Given the description of an element on the screen output the (x, y) to click on. 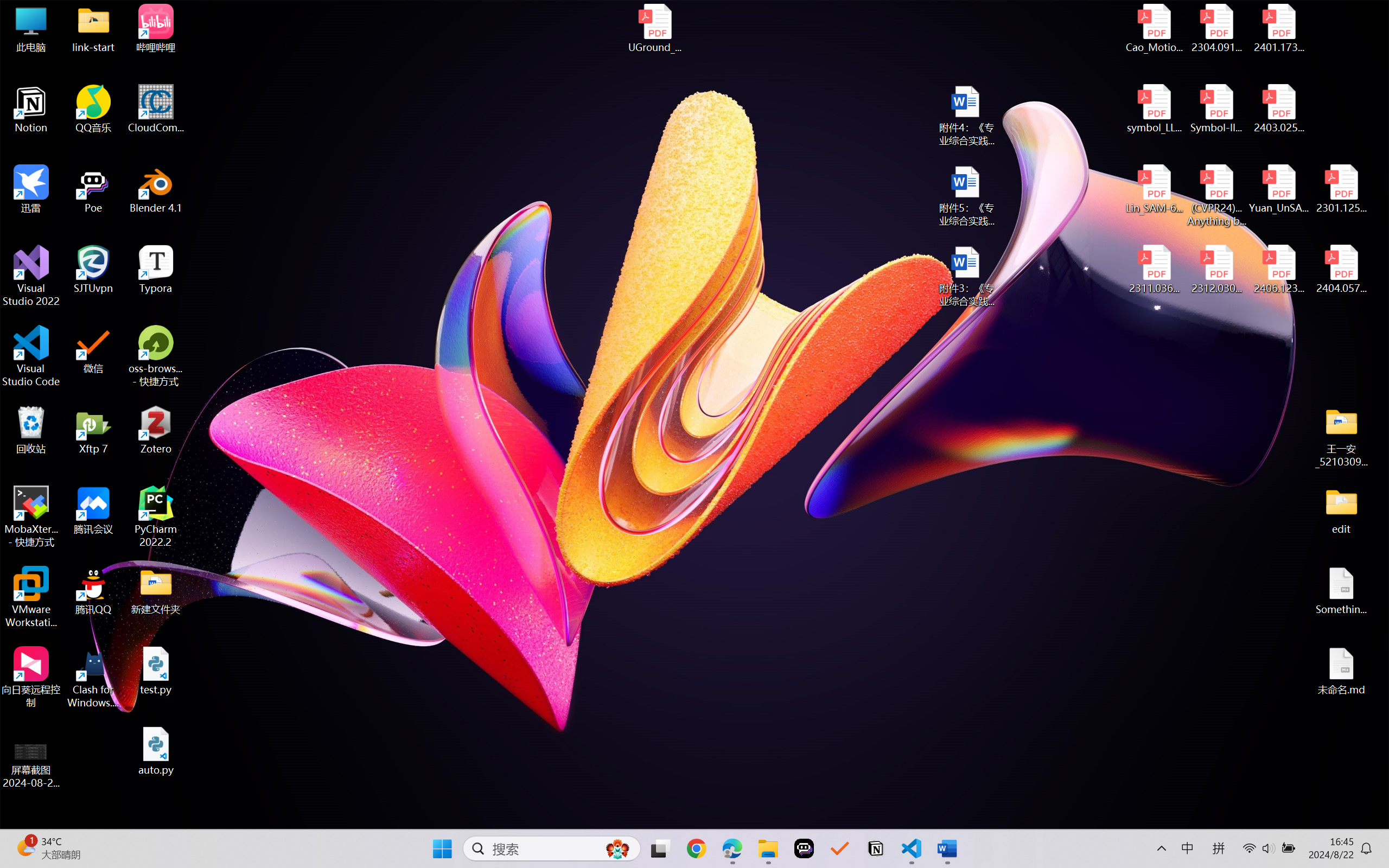
2406.12373v2.pdf (1278, 269)
auto.py (156, 751)
2301.12597v3.pdf (1340, 189)
Google Chrome (696, 848)
(CVPR24)Matching Anything by Segmenting Anything.pdf (1216, 195)
Visual Studio 2022 (31, 276)
2401.17399v1.pdf (1278, 28)
2312.03032v2.pdf (1216, 269)
